Given the description of an element on the screen output the (x, y) to click on. 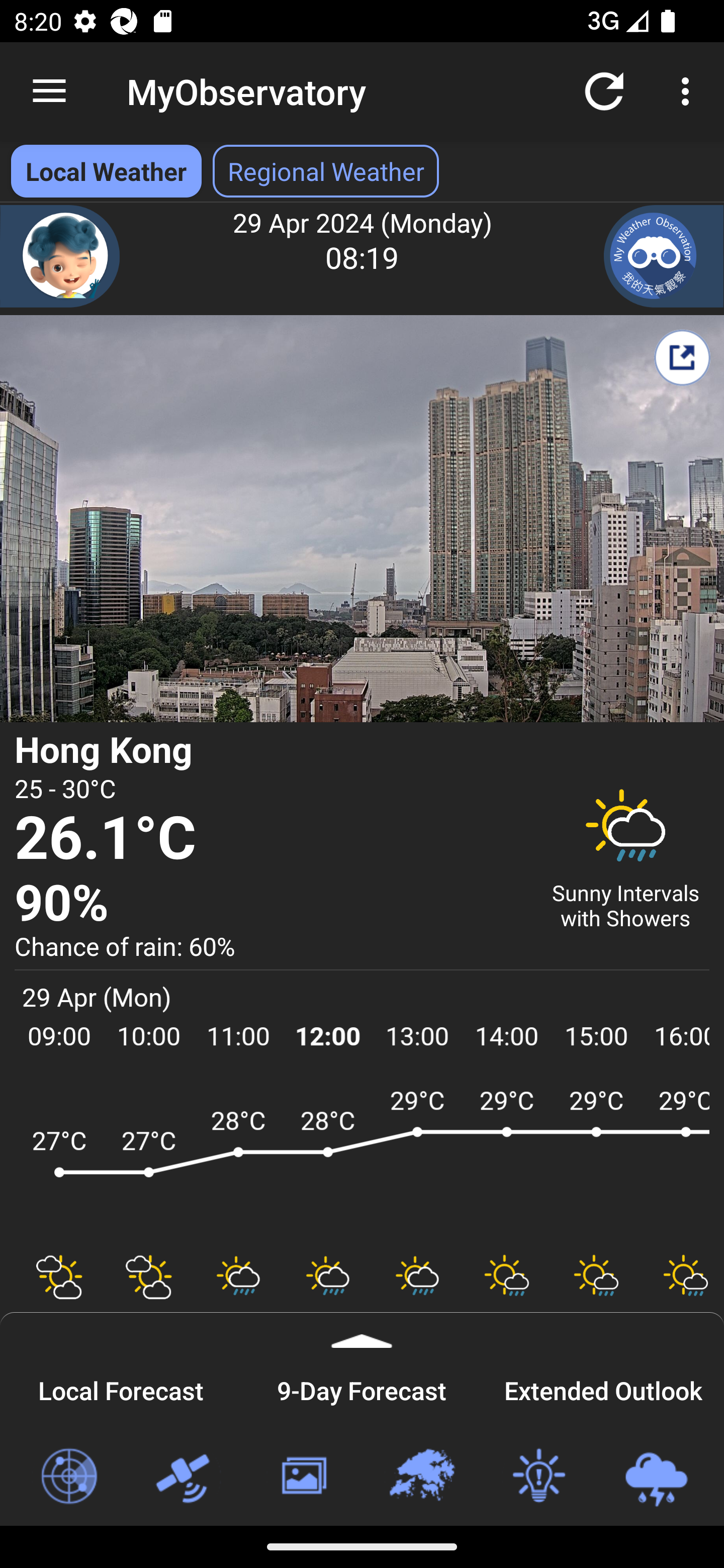
Navigate up (49, 91)
Refresh (604, 90)
More options (688, 90)
Local Weather Local Weather selected (105, 170)
Regional Weather Select Regional Weather (325, 170)
Chatbot (60, 256)
My Weather Observation (663, 256)
Share My Weather Report (681, 357)
26.1°C Temperature
26.1 degree Celsius (270, 839)
90% Relative Humidity
90 percent (270, 903)
ARWF (361, 1160)
Expand (362, 1330)
Local Forecast (120, 1387)
Extended Outlook (603, 1387)
Radar Images (68, 1476)
Satellite Images (185, 1476)
Weather Photos (302, 1476)
Regional Weather (420, 1476)
Weather Tips (537, 1476)
Loc-based Rain & Lightning Forecast (655, 1476)
